Given the description of an element on the screen output the (x, y) to click on. 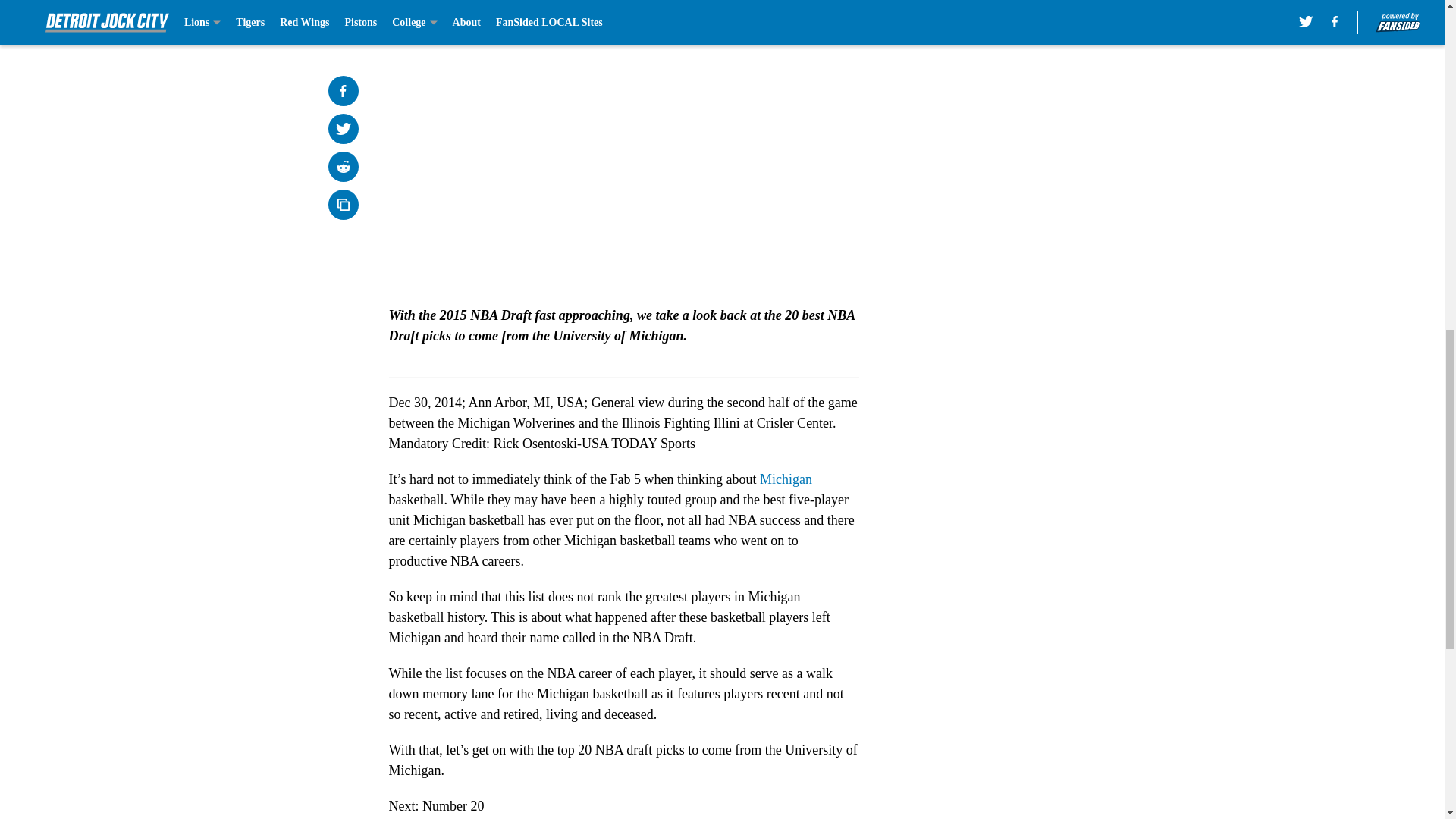
Prev (433, 5)
Next (813, 5)
Michigan (786, 478)
